Given the description of an element on the screen output the (x, y) to click on. 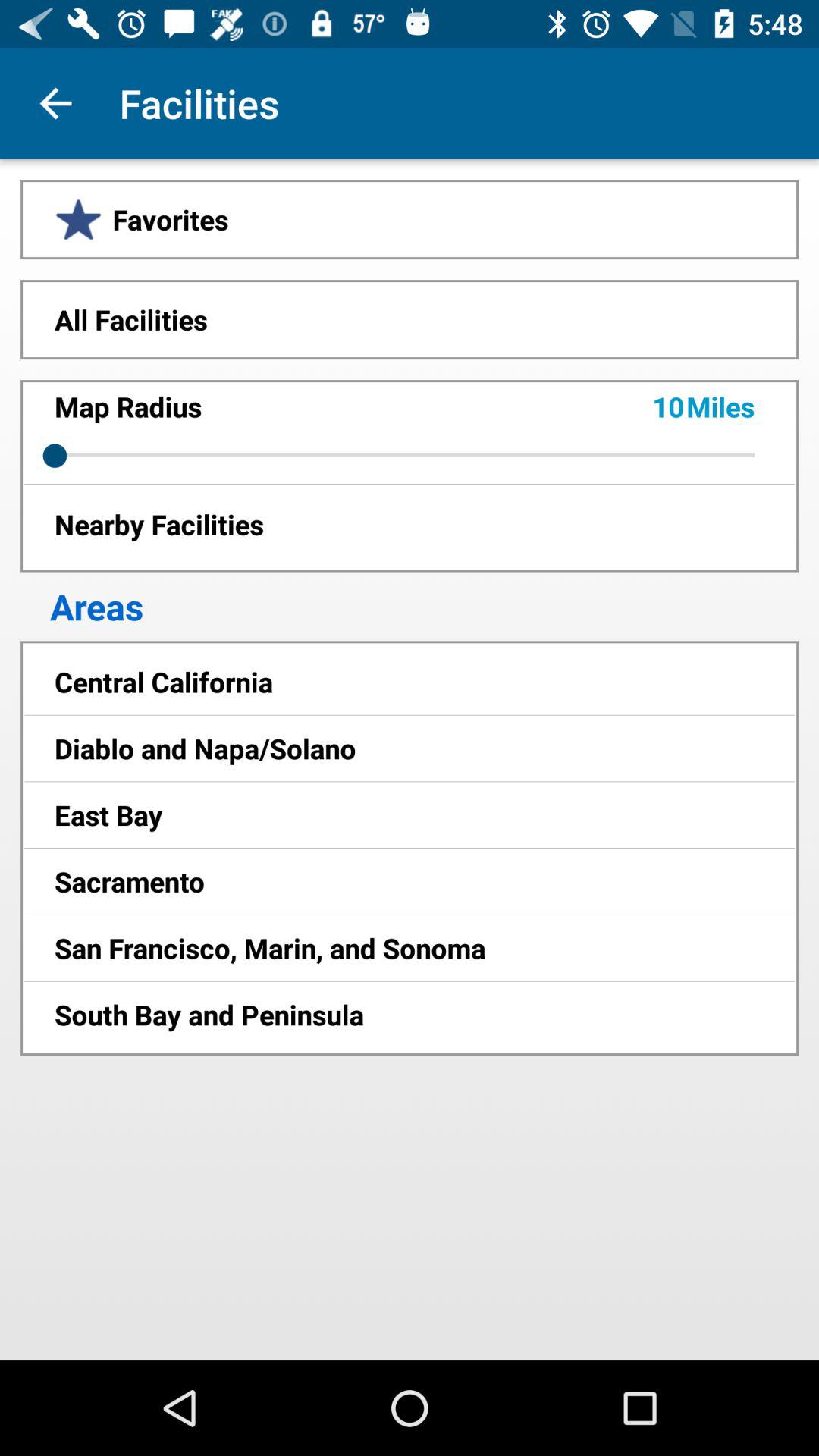
launch the app next to facilities (55, 103)
